Given the description of an element on the screen output the (x, y) to click on. 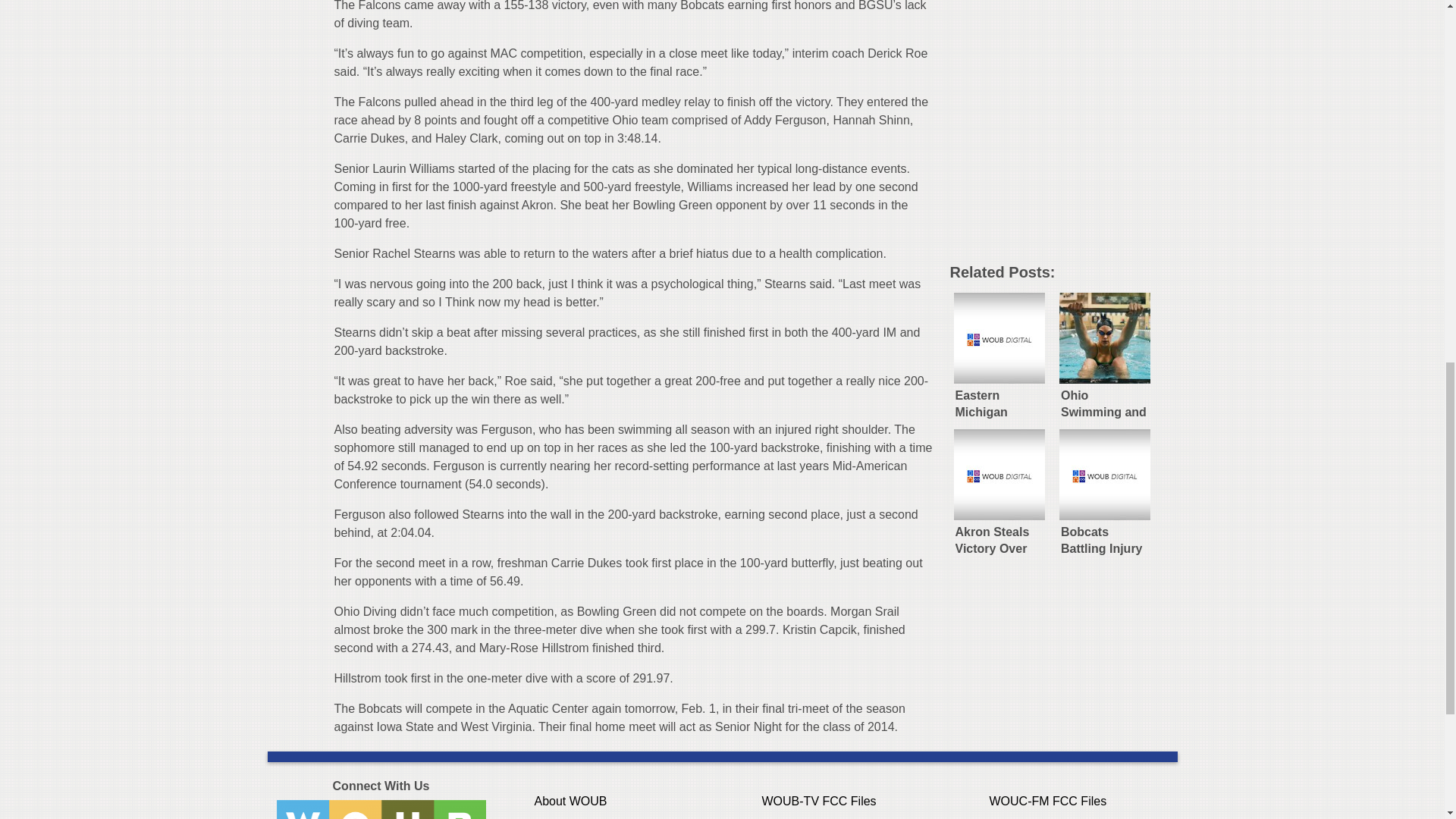
3rd party ad content (1062, 27)
Ohio Swimming and Diving Wins First Meet (1104, 353)
Akron Steals Victory Over Ohio In Final Events (998, 489)
3rd party ad content (1062, 155)
Bobcats Battling Injury Before Bowling Green Meet (1104, 489)
